Given the description of an element on the screen output the (x, y) to click on. 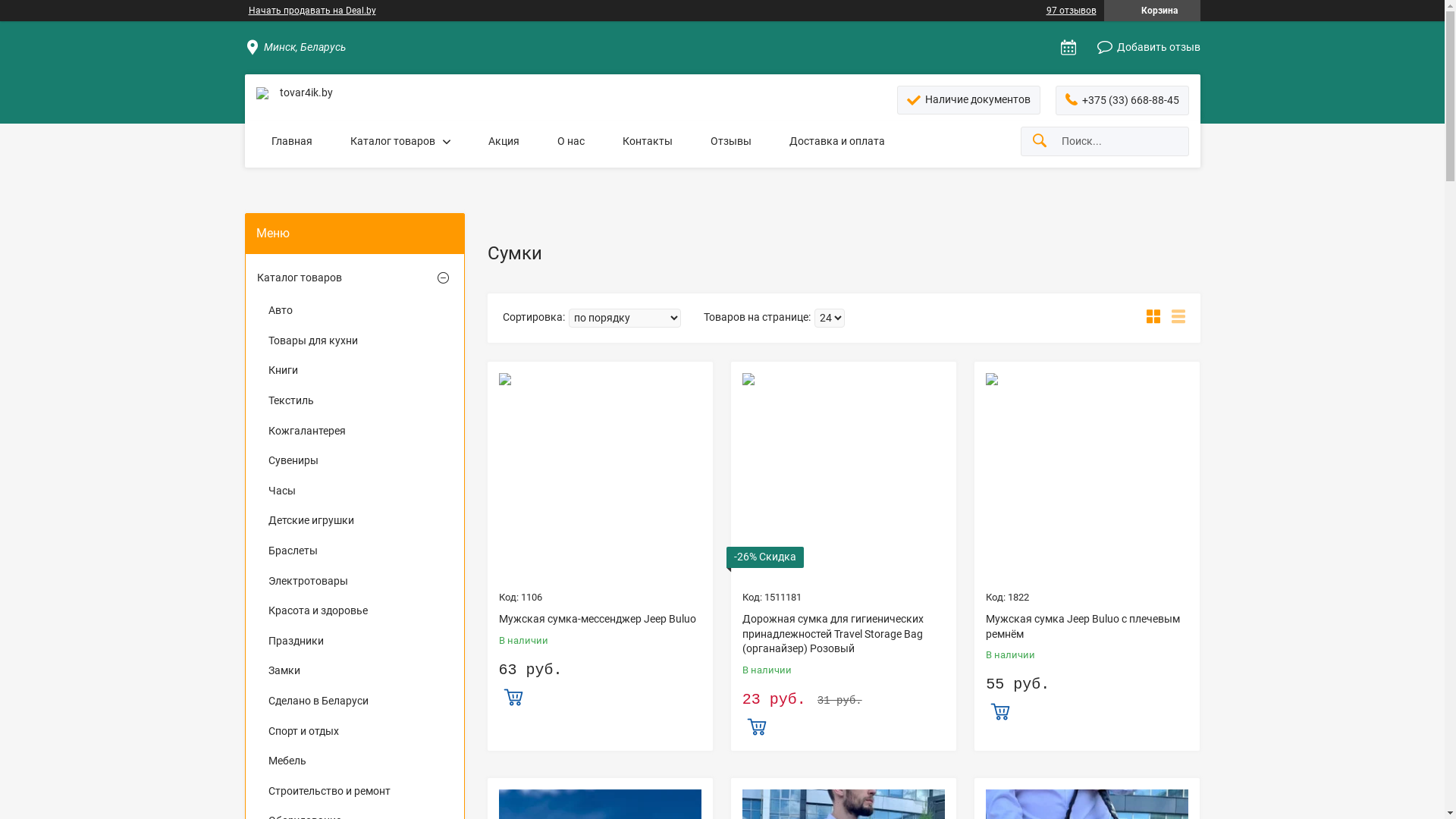
tovar4ik.by Element type: hover (262, 93)
